Given the description of an element on the screen output the (x, y) to click on. 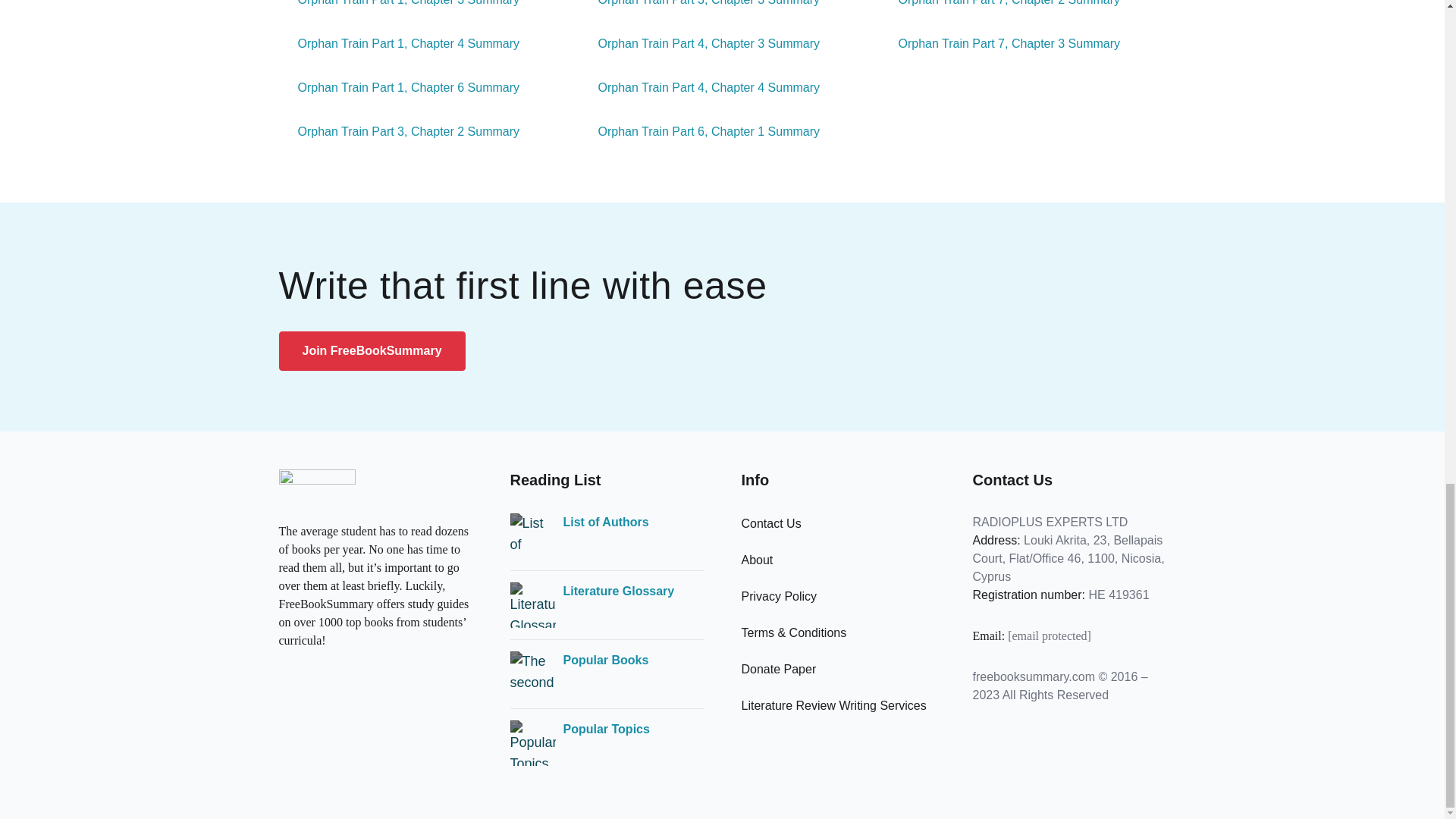
Orphan Train Part 7, Chapter 2 Summary (1000, 4)
Orphan Train Part 7, Chapter 3 Summary (1000, 44)
Popular Topics (605, 729)
Donate Paper (778, 668)
Orphan Train Part 3, Chapter 3 Summary (700, 4)
Literature Review Writing Services (833, 705)
Orphan Train Part 4, Chapter 4 Summary (700, 87)
Contact Us (771, 522)
Orphan Train Part 3, Chapter 2 Summary (399, 131)
Orphan Train Part 1, Chapter 3 Summary (399, 4)
